Given the description of an element on the screen output the (x, y) to click on. 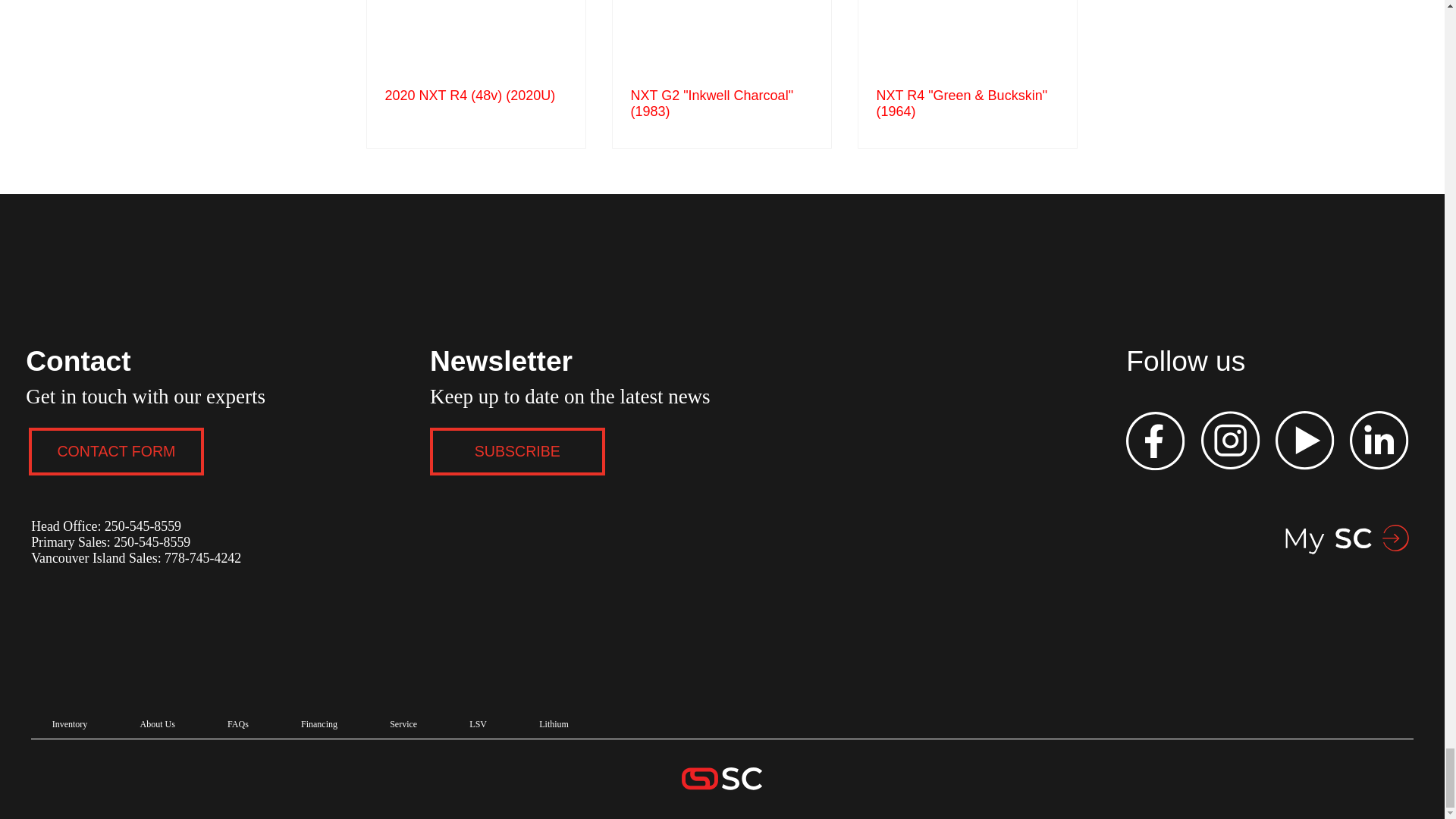
LSV (478, 724)
Inventory (69, 724)
Service (403, 724)
Lithium (554, 724)
Financing (318, 724)
About Us (157, 724)
CONTACT FORM (116, 451)
SUBSCRIBE (517, 451)
778-745-4242 (202, 557)
250-545-8559 (142, 525)
